Given the description of an element on the screen output the (x, y) to click on. 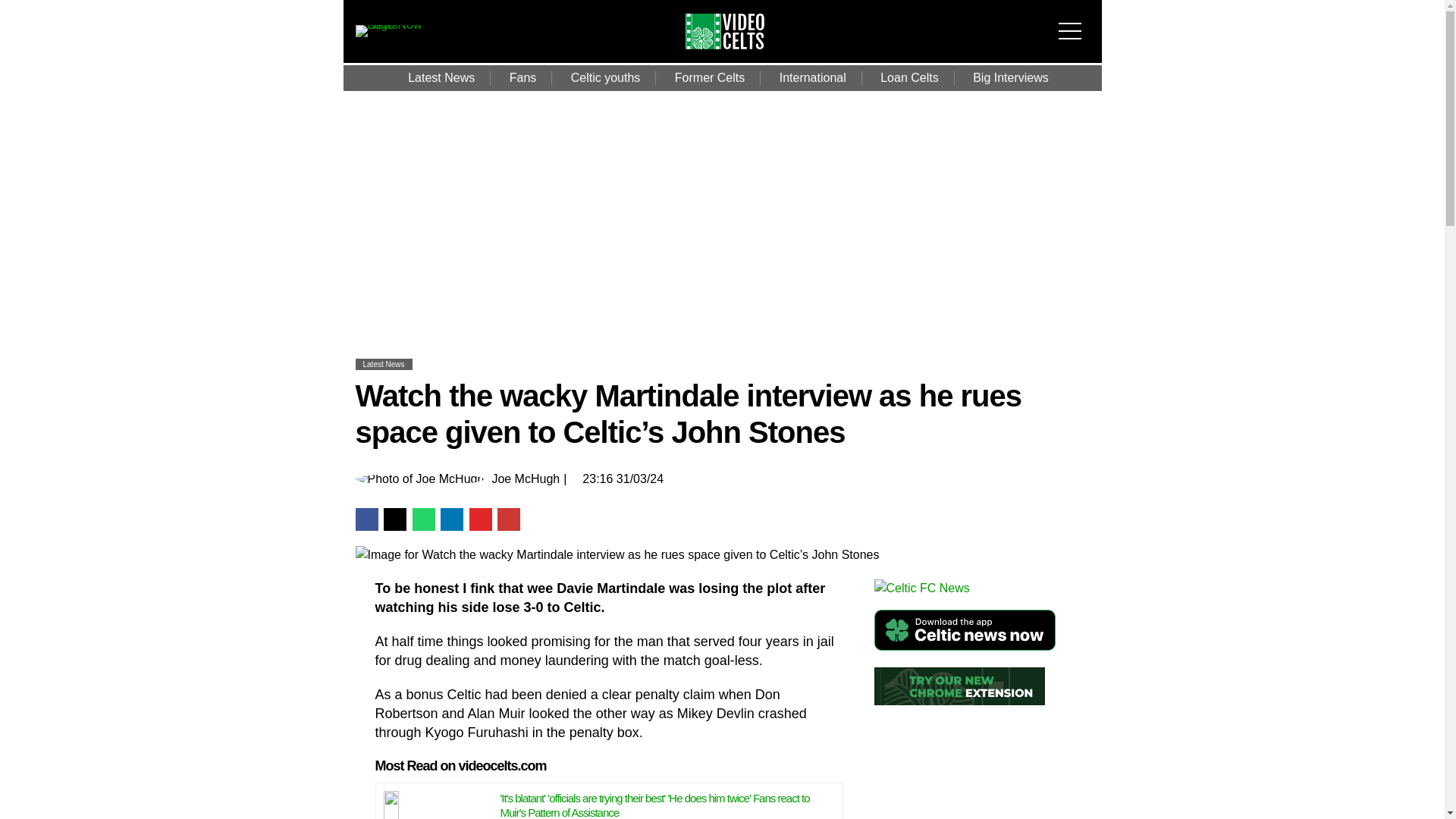
Latest News (441, 78)
Latest News (383, 364)
share on Email (508, 518)
Click here for Celtic news now (947, 630)
share on WhatsApp (423, 518)
Loan Celts (908, 78)
share on LinkedIn (452, 518)
Former Celts (709, 78)
Back to the homepage (751, 44)
International (812, 78)
